Given the description of an element on the screen output the (x, y) to click on. 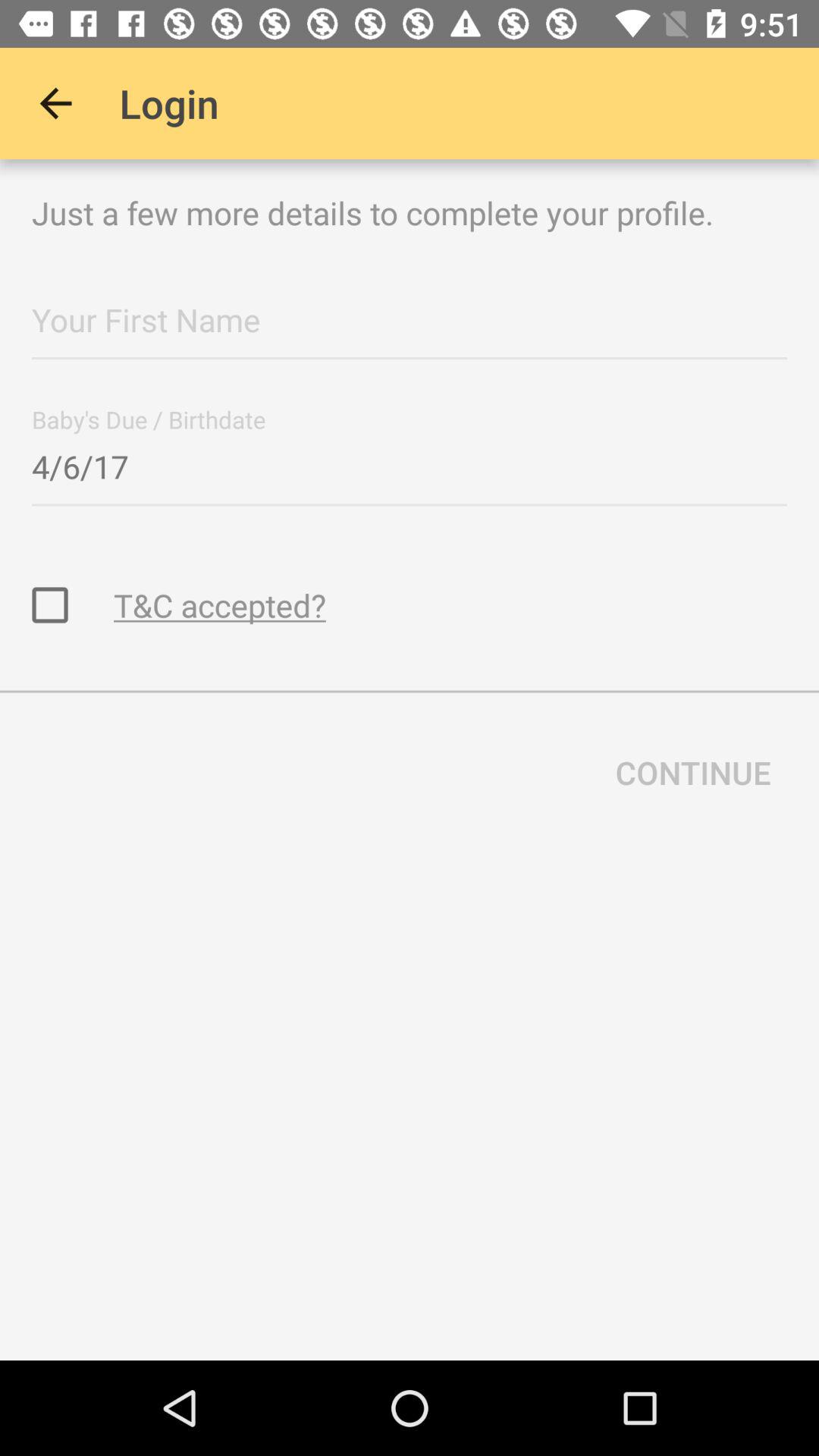
click item above just a few icon (55, 103)
